Given the description of an element on the screen output the (x, y) to click on. 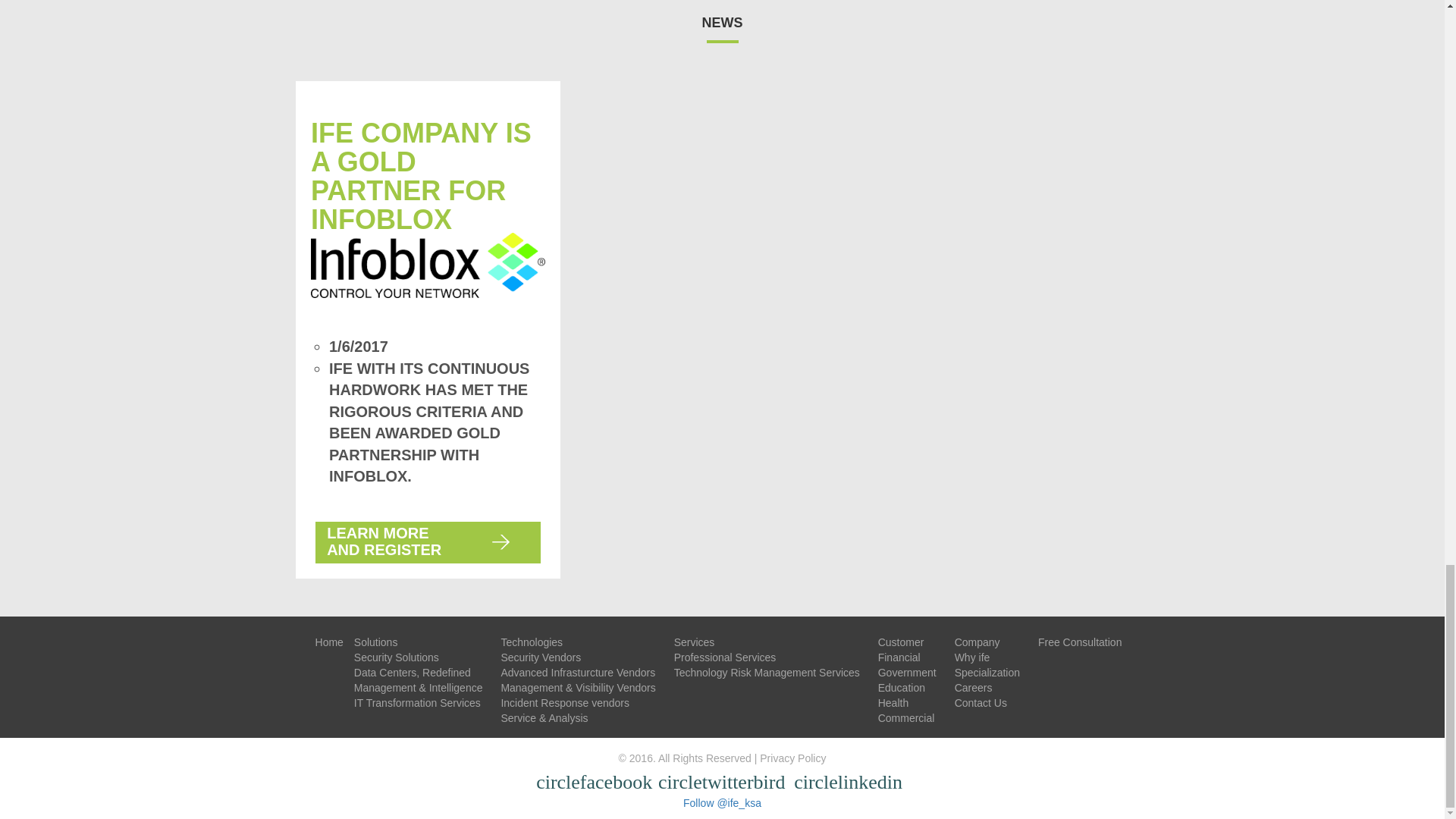
circletwitterbird (724, 782)
circlelinkedin (850, 782)
circlefacebook (596, 782)
